Given the description of an element on the screen output the (x, y) to click on. 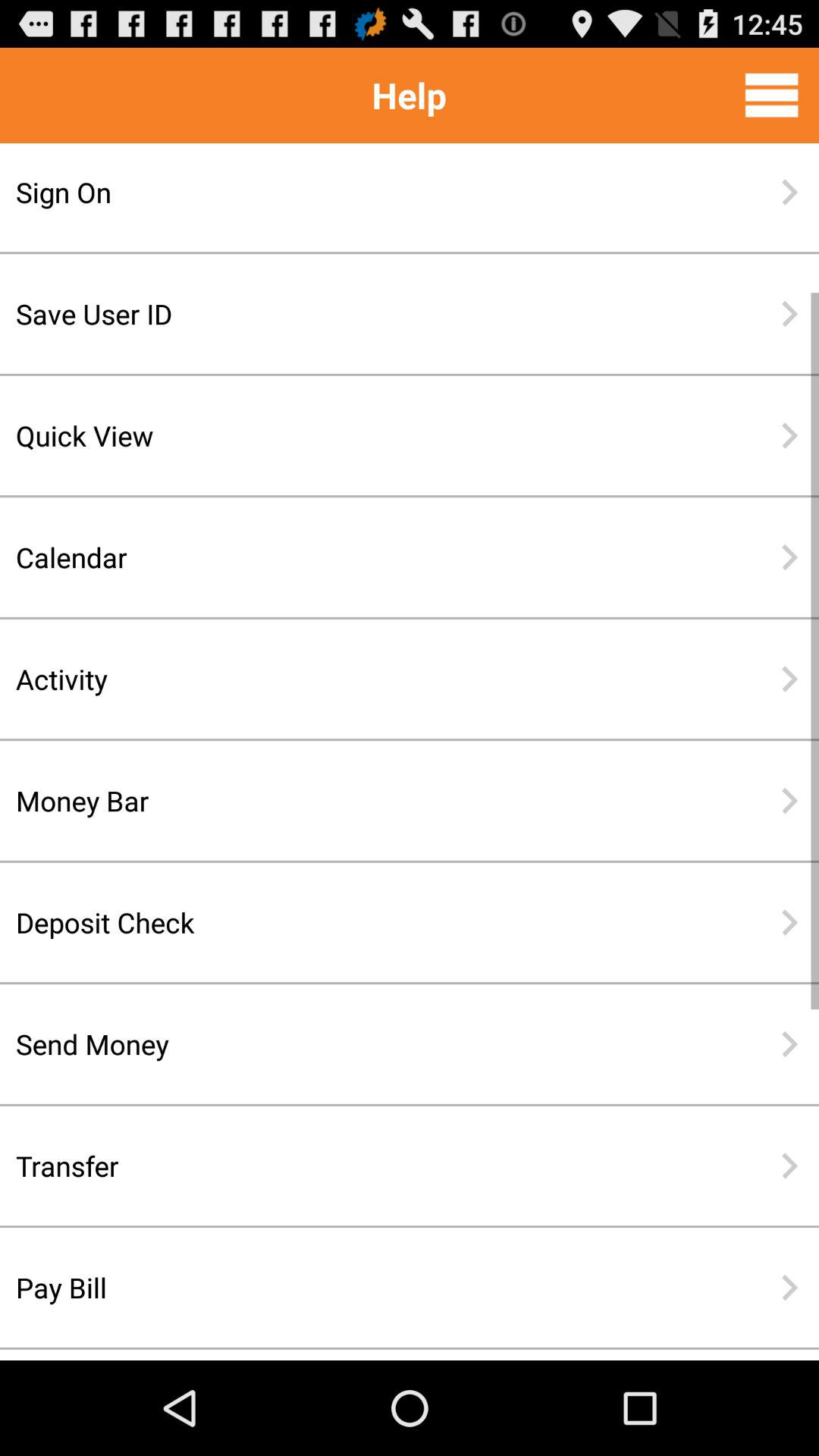
select the item below the sign on item (359, 313)
